Given the description of an element on the screen output the (x, y) to click on. 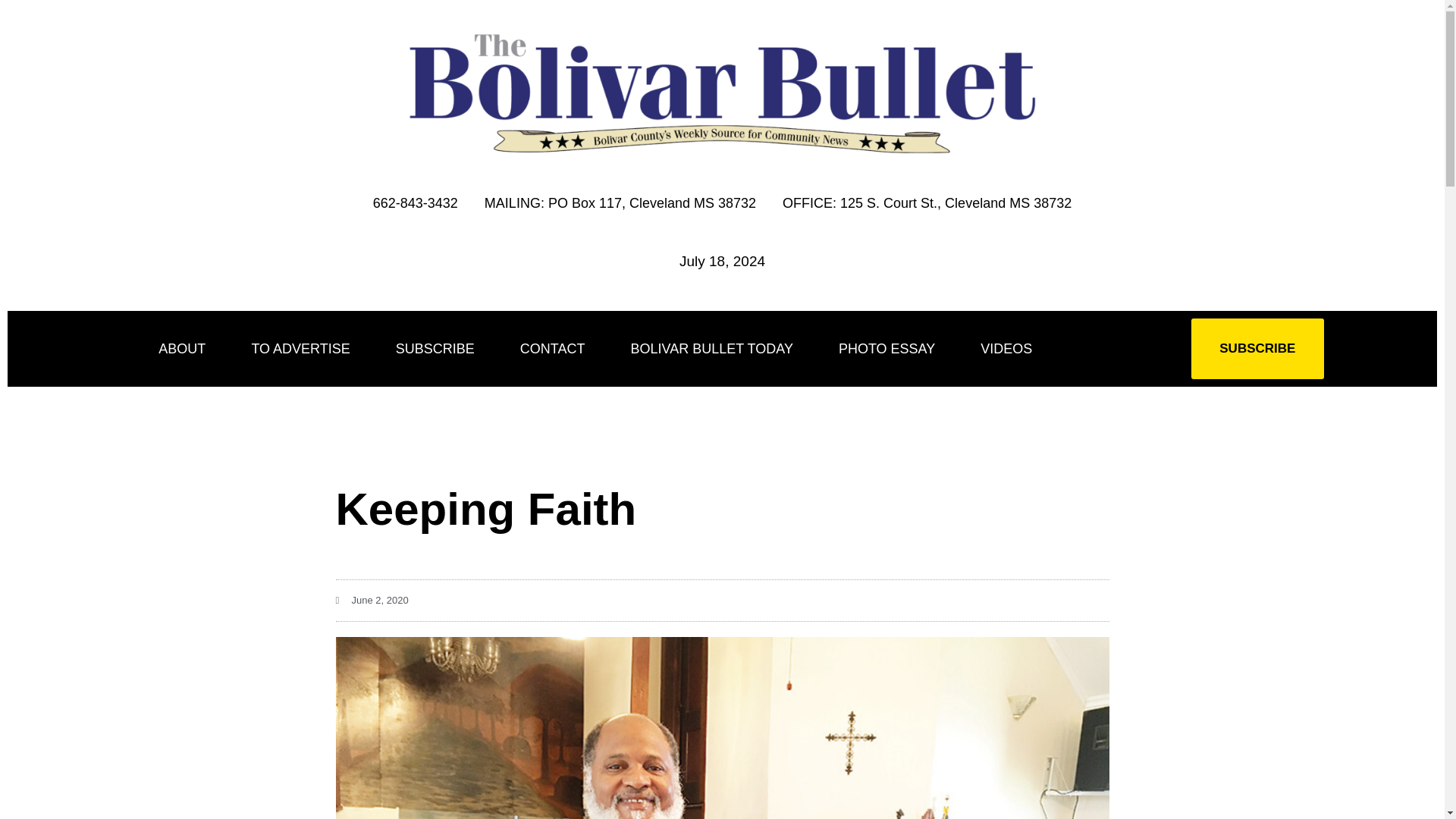
CONTACT (552, 348)
VIDEOS (1005, 348)
June 2, 2020 (370, 600)
BOLIVAR BULLET TODAY (711, 348)
SUBSCRIBE (1257, 348)
TO ADVERTISE (300, 348)
PHOTO ESSAY (887, 348)
SUBSCRIBE (434, 348)
ABOUT (181, 348)
